Given the description of an element on the screen output the (x, y) to click on. 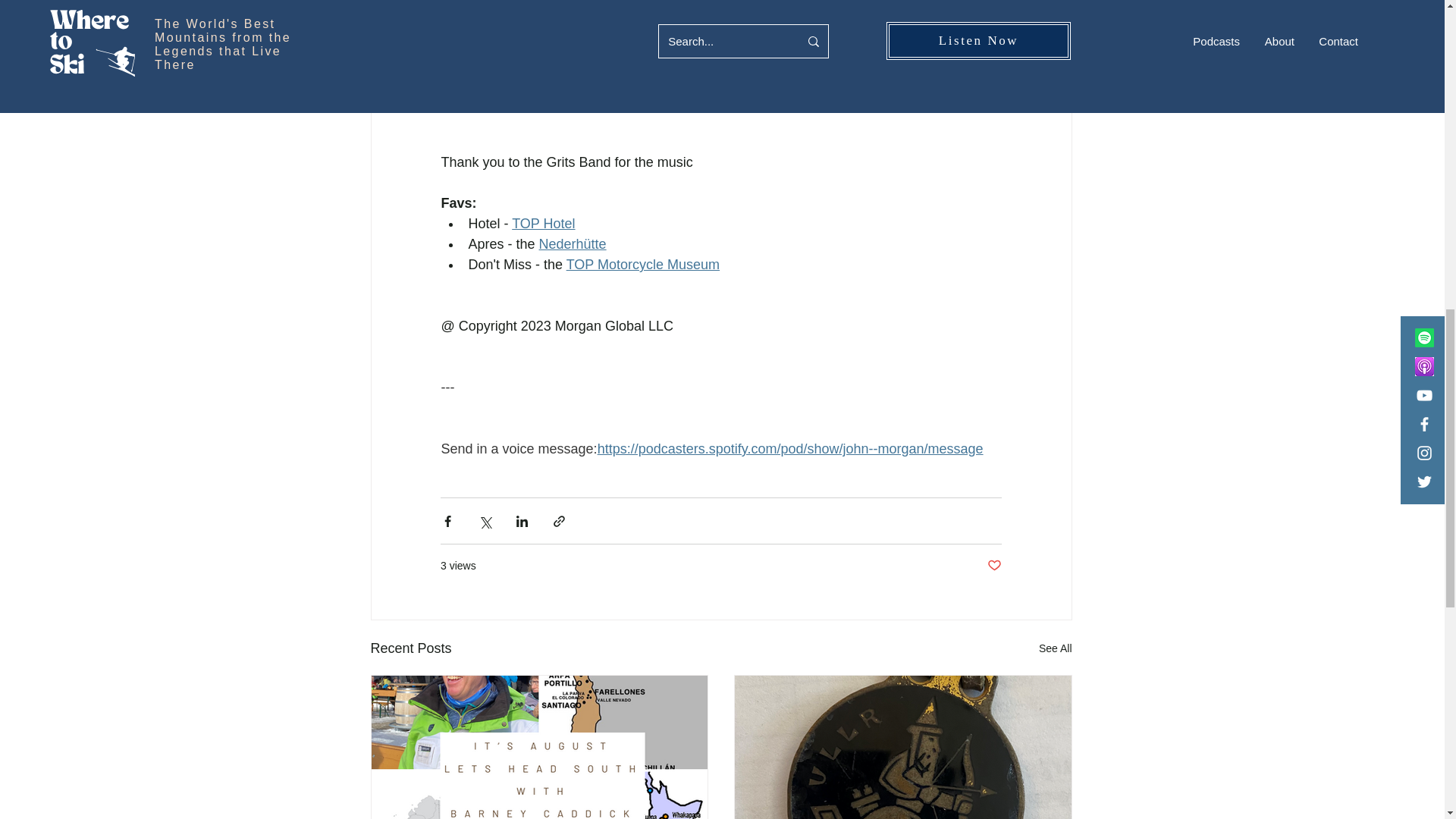
TOP Motorcycle Museum (642, 264)
Post not marked as liked (994, 565)
See All (1055, 649)
TOP Hotel (543, 223)
